Given the description of an element on the screen output the (x, y) to click on. 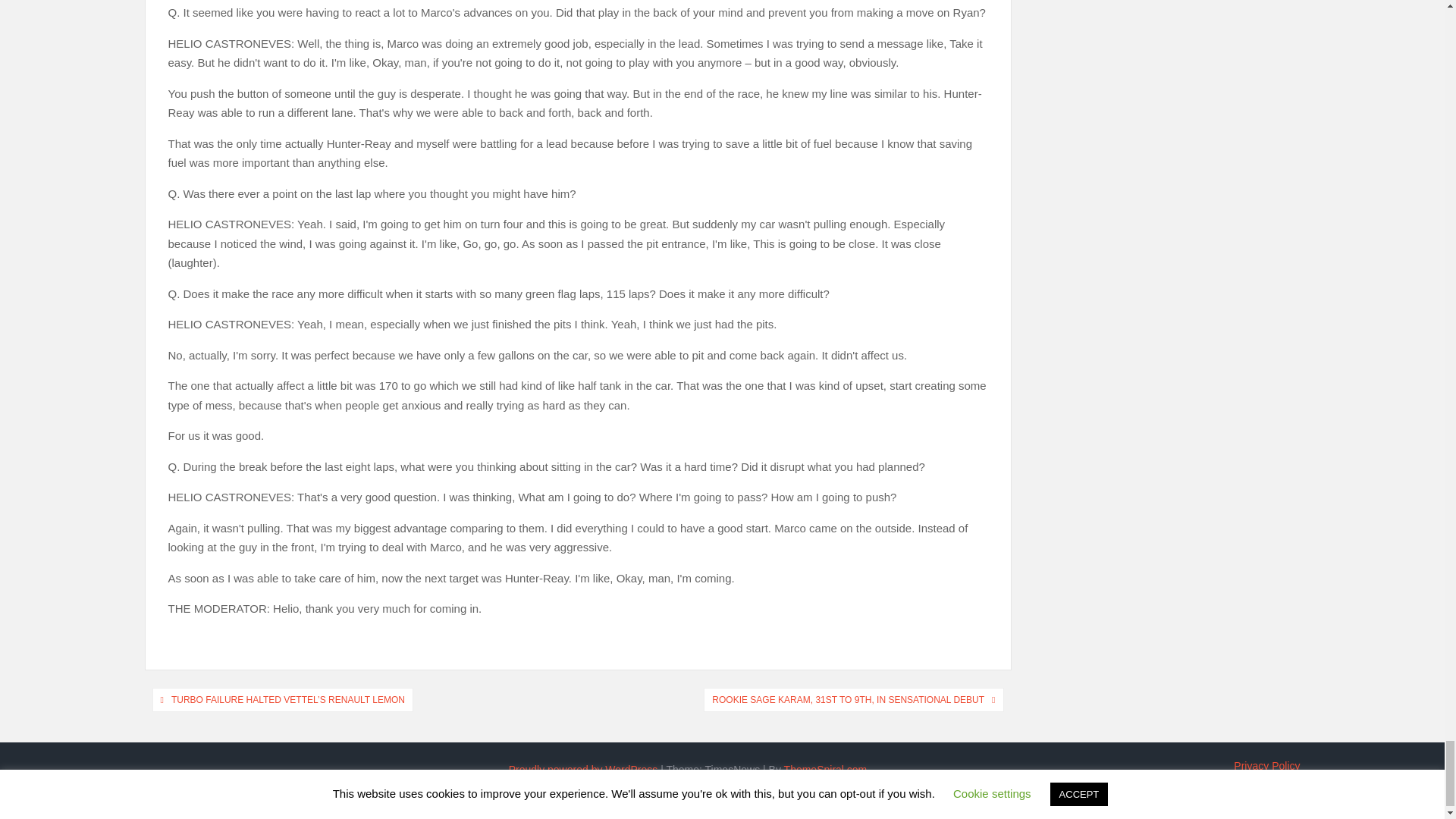
Social Media Auto Publish (665, 804)
